Given the description of an element on the screen output the (x, y) to click on. 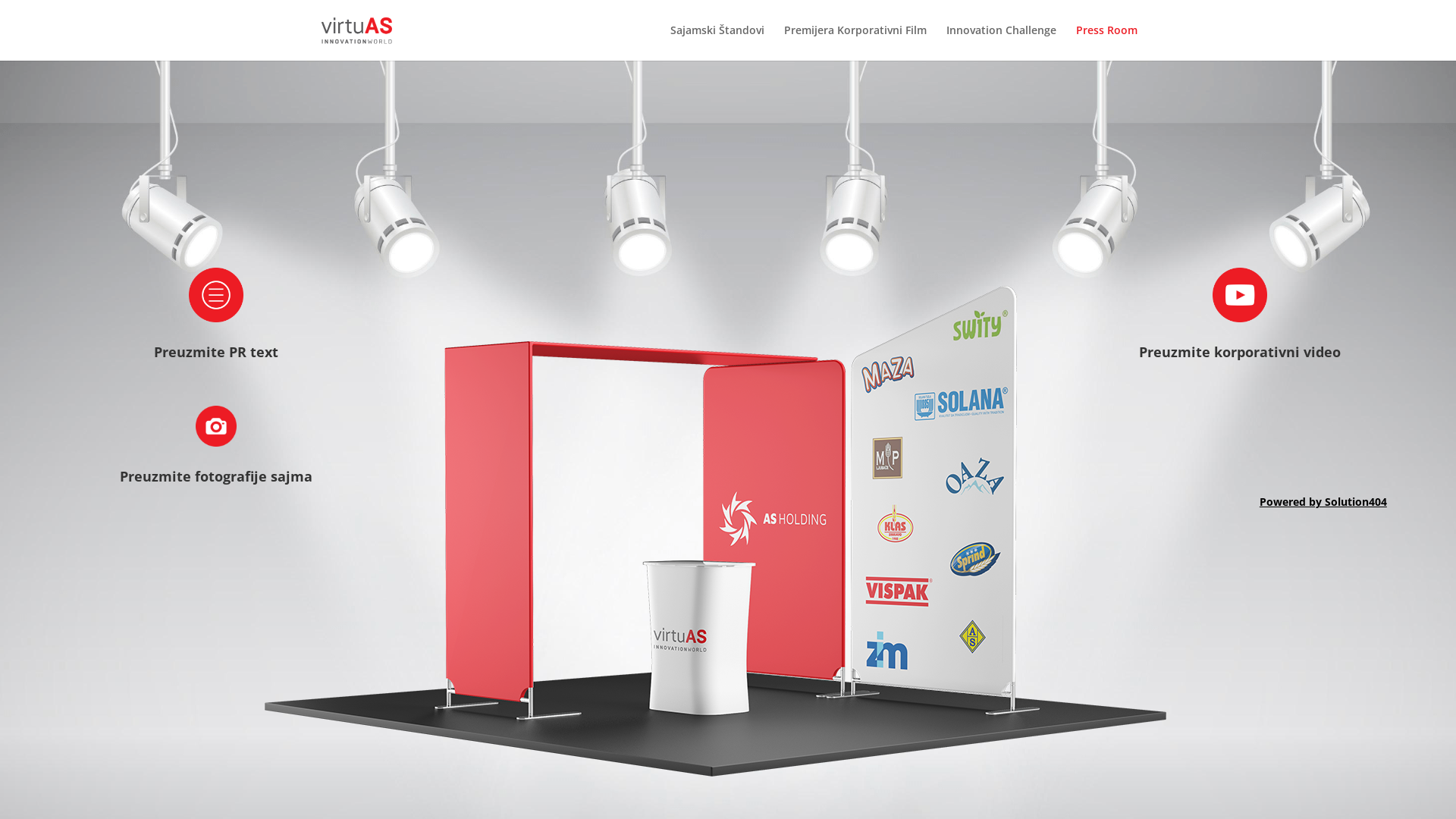
Innovation Challenge Element type: text (1001, 42)
Press Room Element type: text (1106, 42)
Premijera Korporativni Film Element type: text (855, 42)
